Given the description of an element on the screen output the (x, y) to click on. 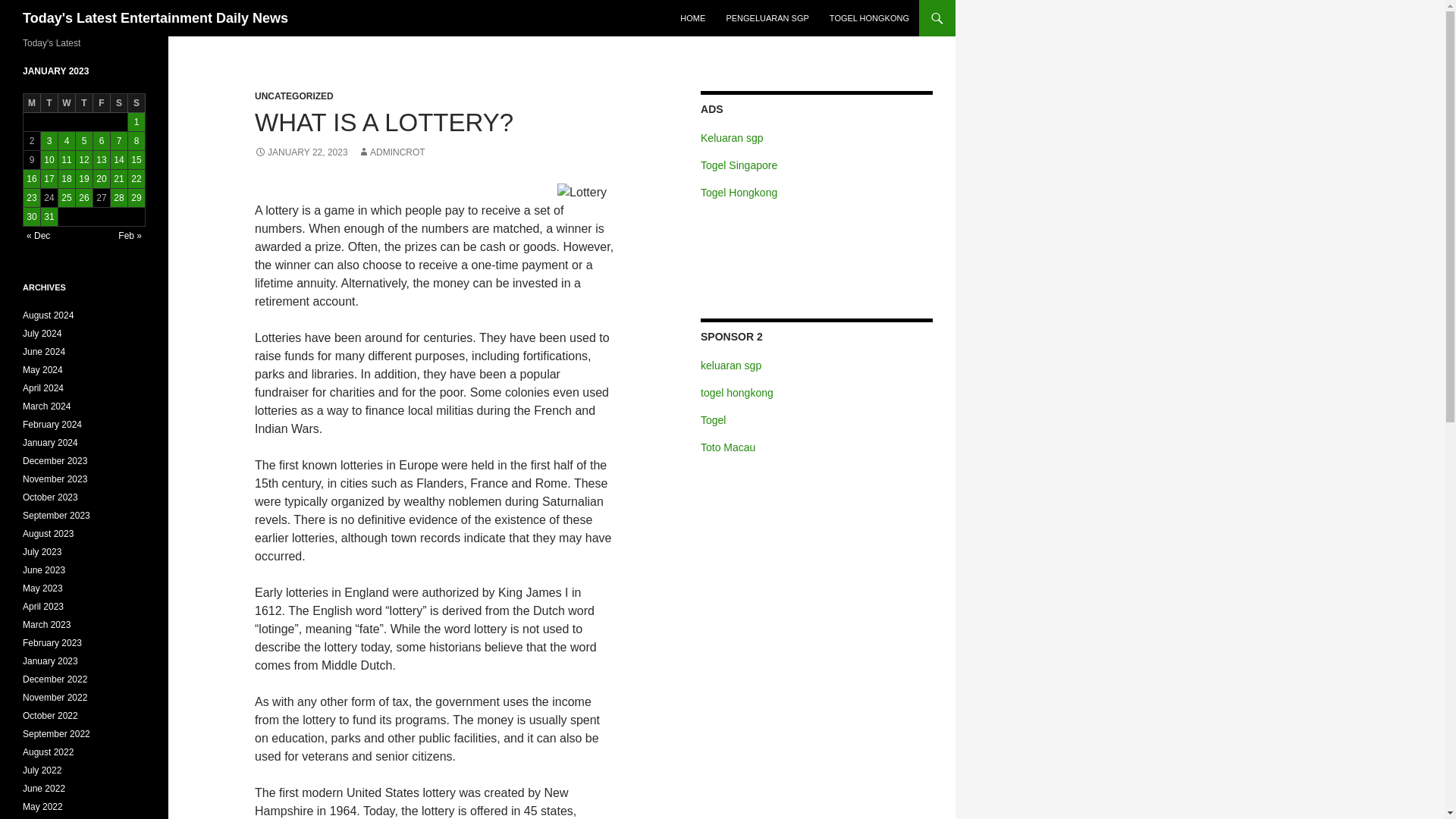
5 (84, 140)
Sunday (136, 103)
keluaran sgp (730, 365)
Thursday (84, 103)
18 (66, 178)
togel hongkong (736, 392)
Saturday (119, 103)
Toto Macau (727, 447)
ADMINCROT (391, 152)
PENGELUARAN SGP (766, 18)
11 (66, 159)
JANUARY 22, 2023 (300, 152)
13 (101, 159)
Monday (31, 103)
6 (101, 140)
